Given the description of an element on the screen output the (x, y) to click on. 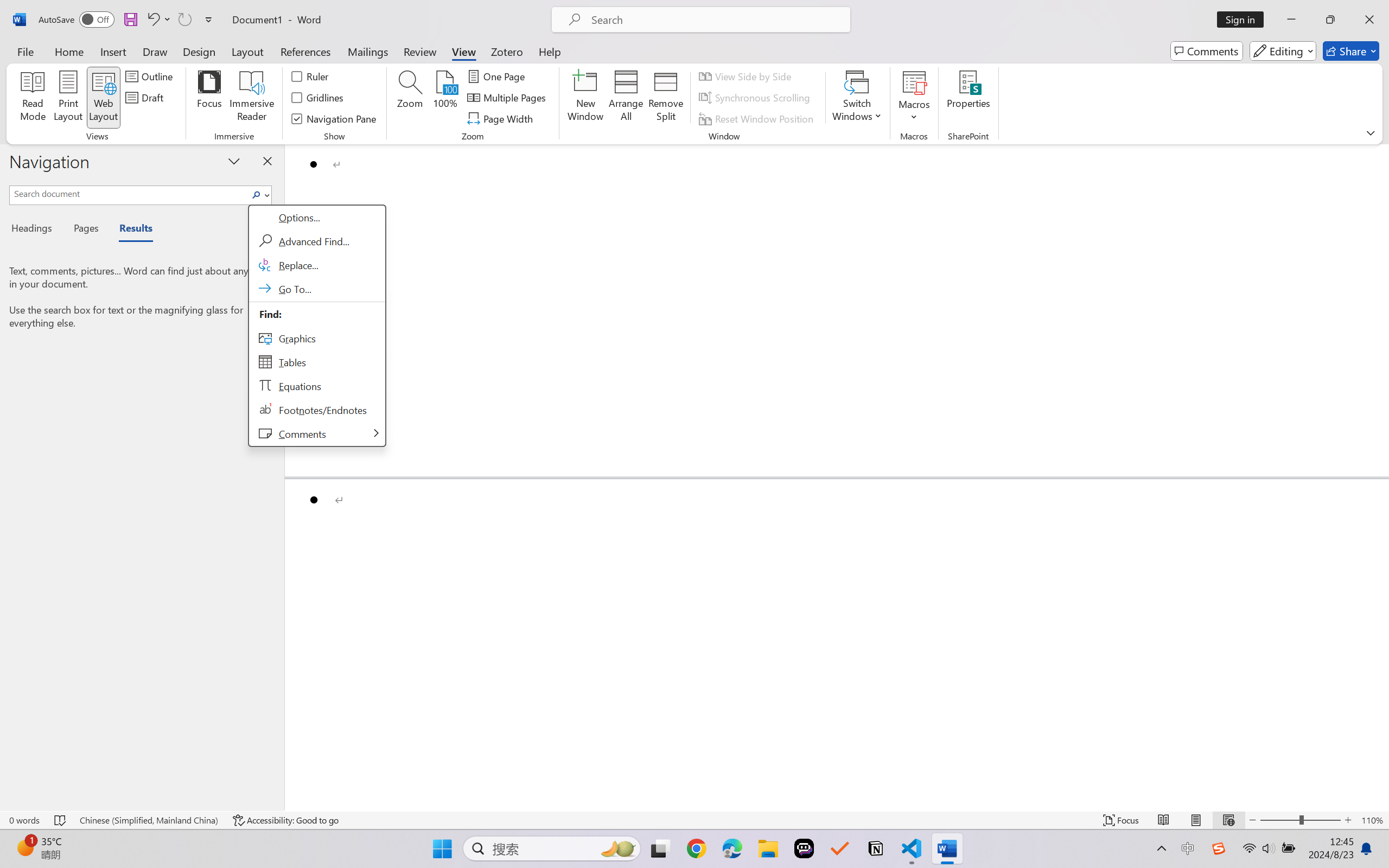
Switch Windows (856, 97)
Ruler (309, 75)
Gridlines (317, 97)
Multiple Pages (507, 97)
